Given the description of an element on the screen output the (x, y) to click on. 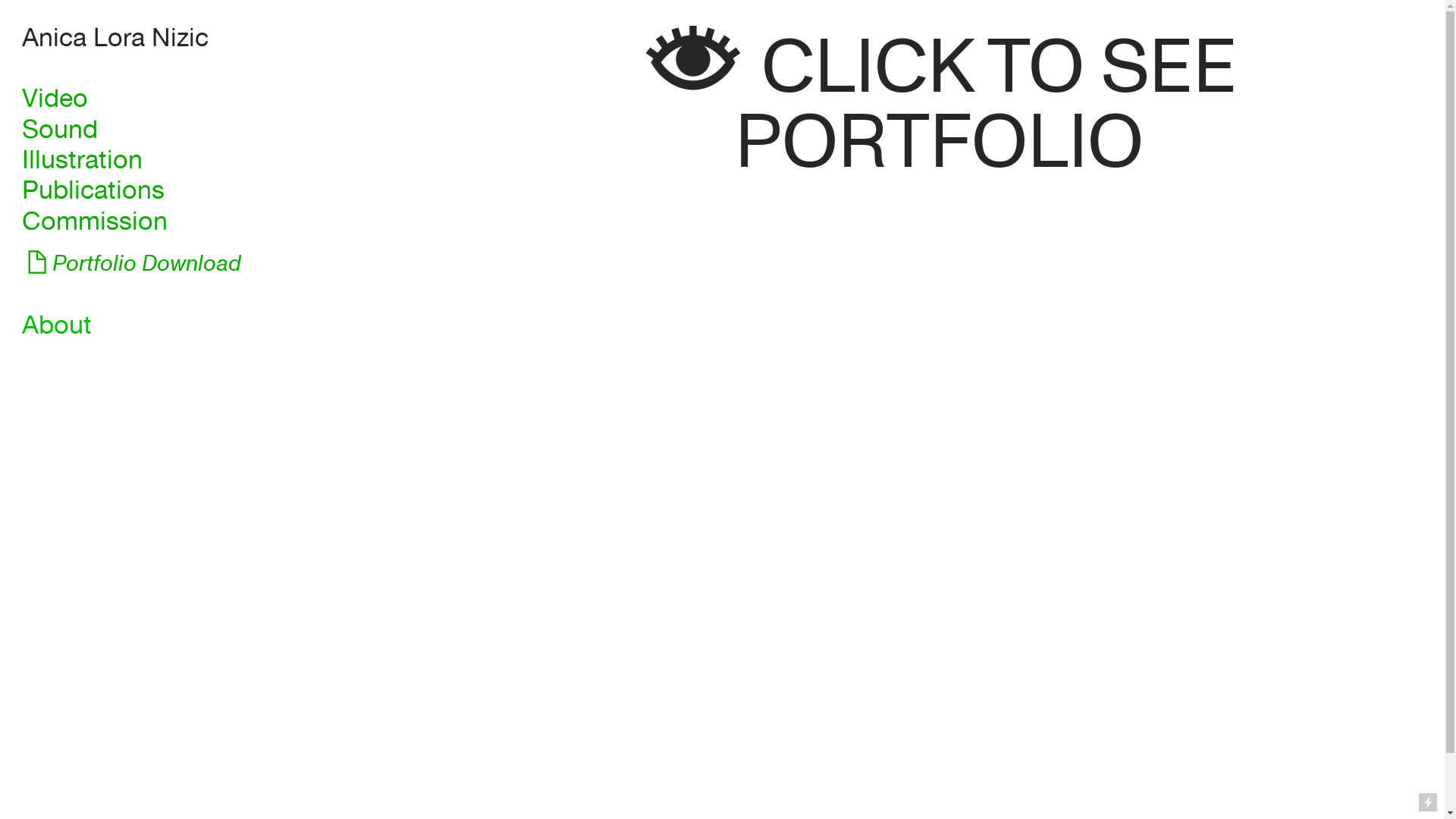
CLICK Element type: text (866, 71)
Sound Element type: text (59, 129)
Commission Element type: text (94, 221)
About Element type: text (56, 325)
Illustration Element type: text (81, 160)
Video Element type: text (54, 98)
Publications Element type: text (92, 190)
